Given the description of an element on the screen output the (x, y) to click on. 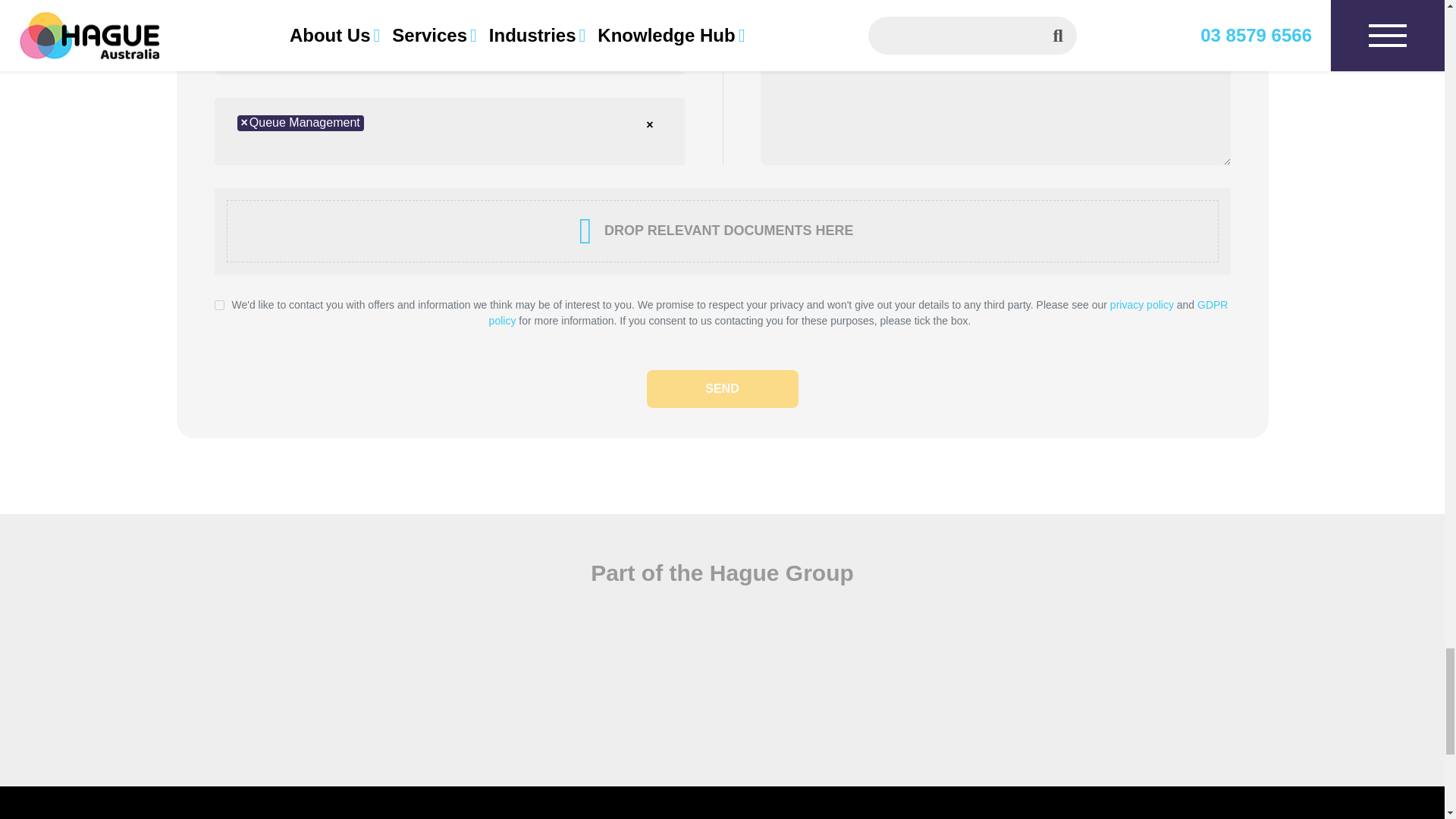
Yes (219, 305)
Queue Management (298, 123)
